Given the description of an element on the screen output the (x, y) to click on. 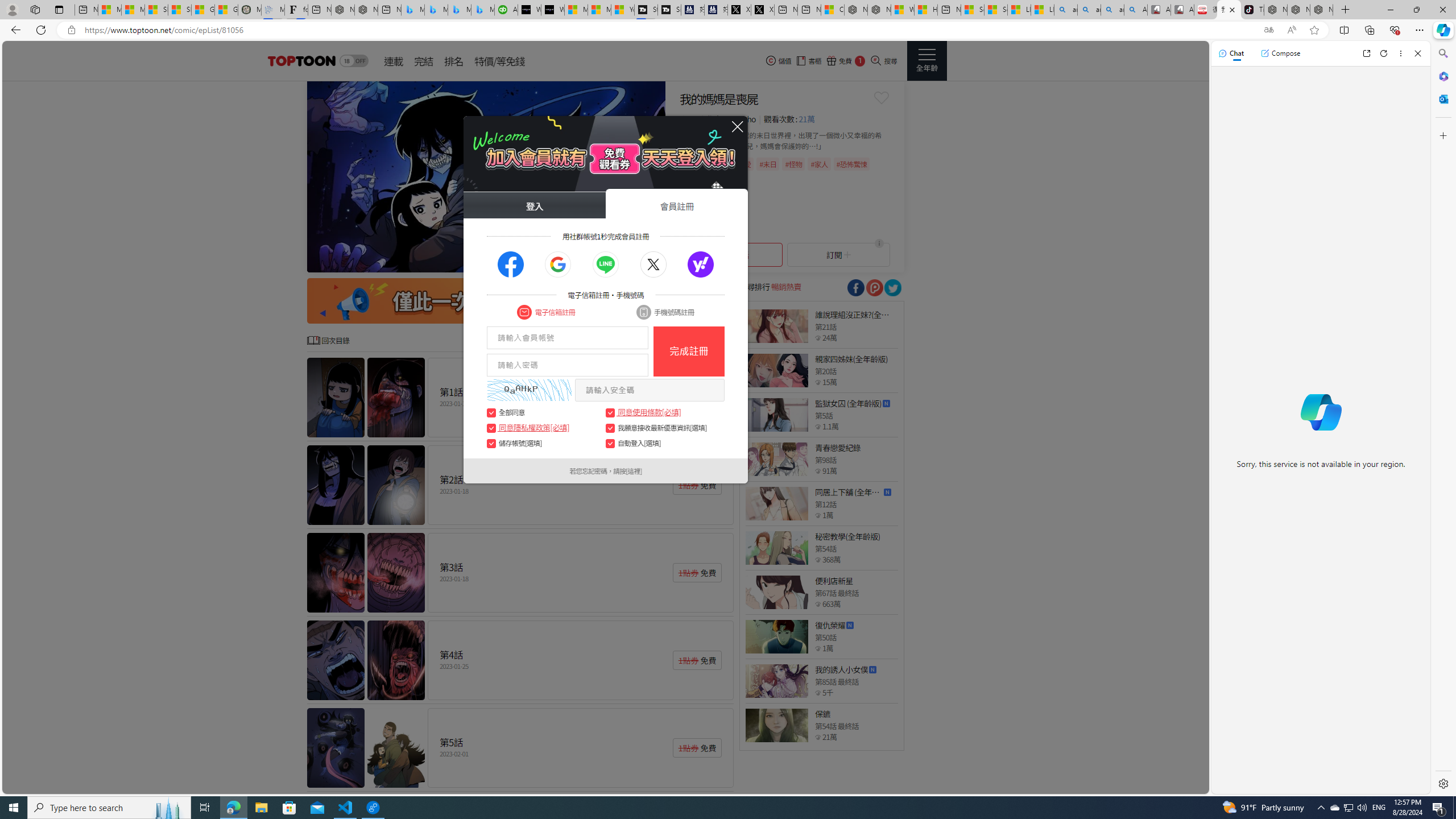
Class: thumb_img (776, 725)
Class: socialShare (892, 287)
Go to slide 4 (597, 261)
